Given the description of an element on the screen output the (x, y) to click on. 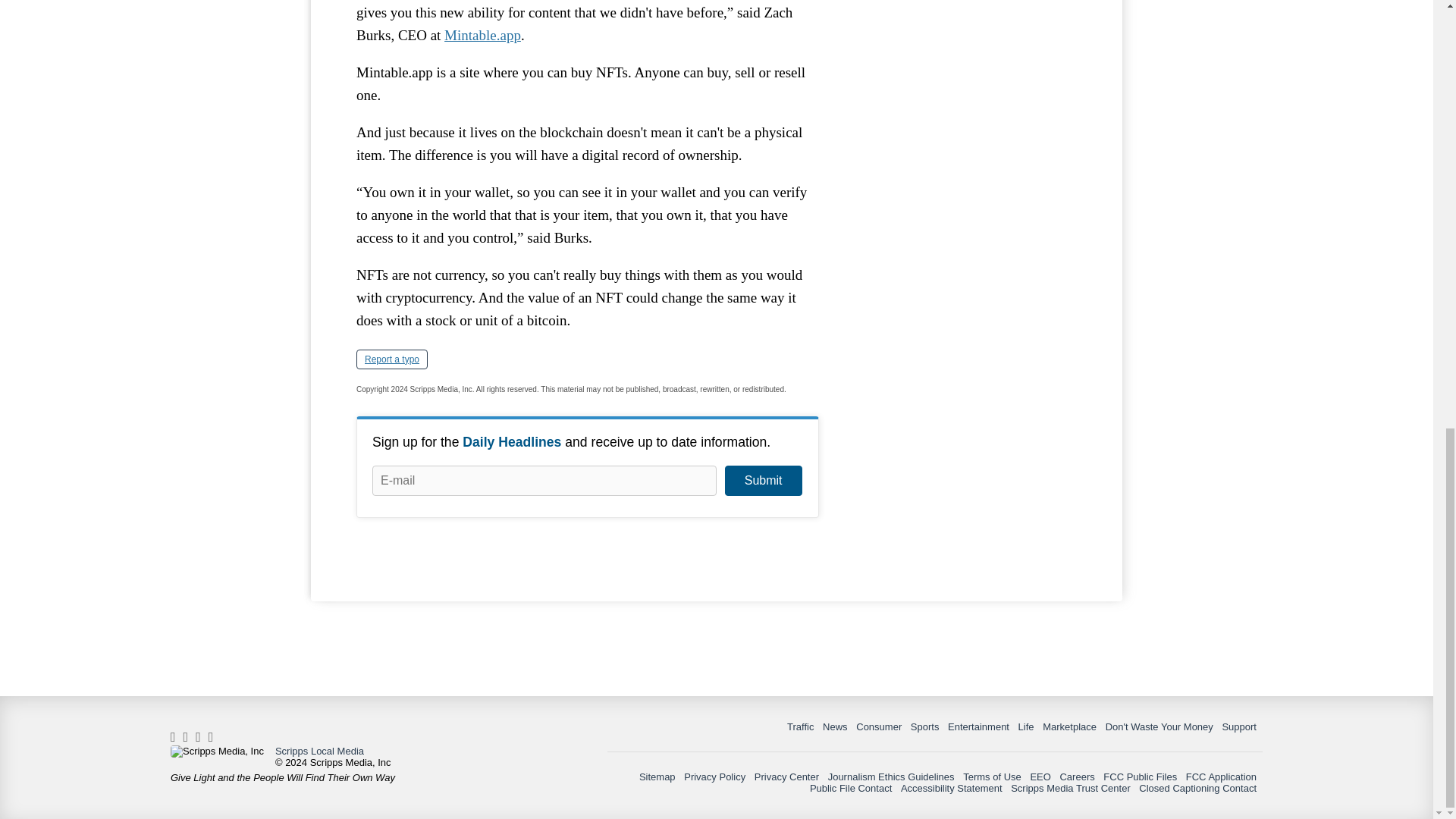
Submit (763, 481)
